Given the description of an element on the screen output the (x, y) to click on. 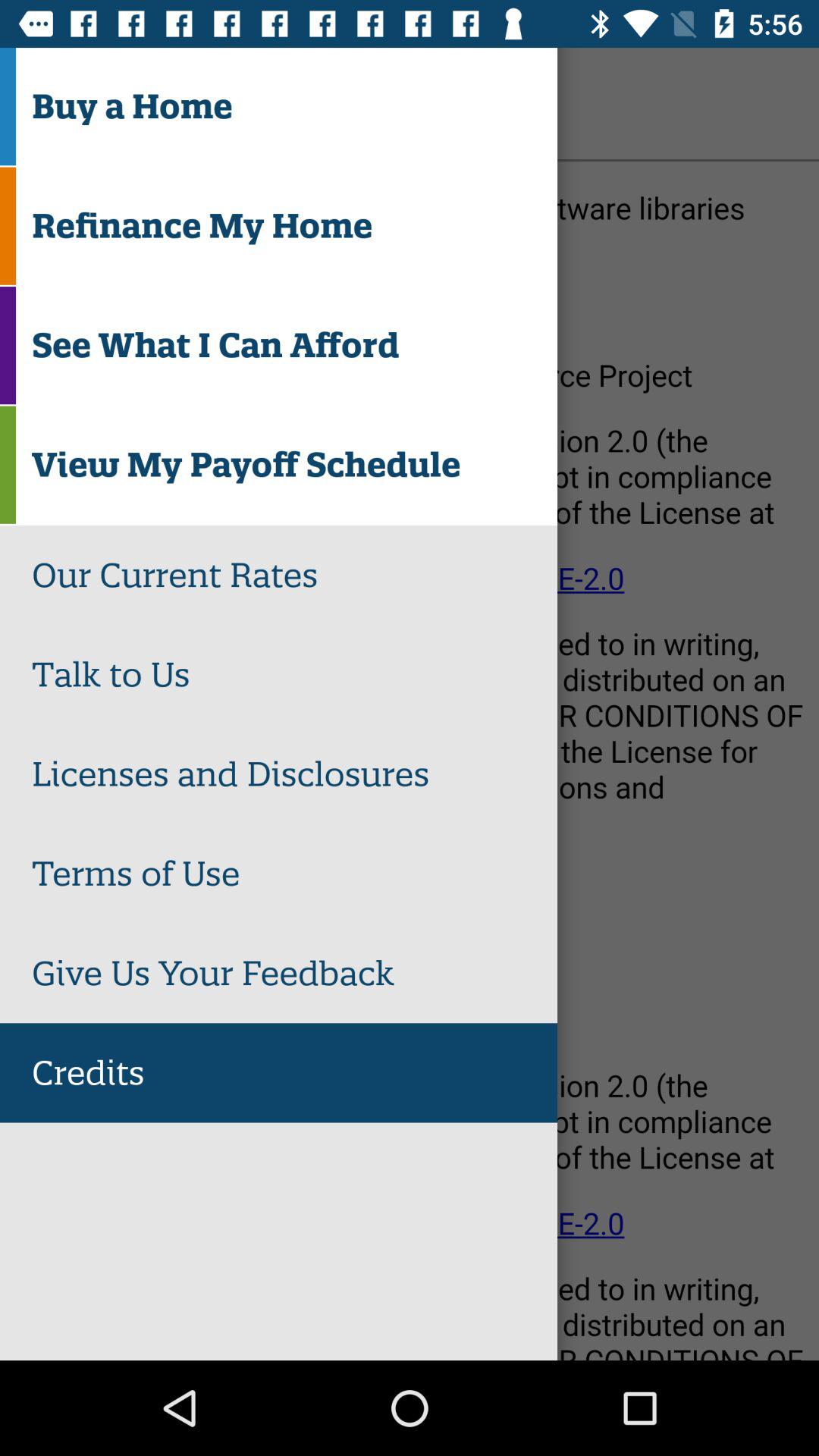
swipe to refinance my home item (294, 225)
